Given the description of an element on the screen output the (x, y) to click on. 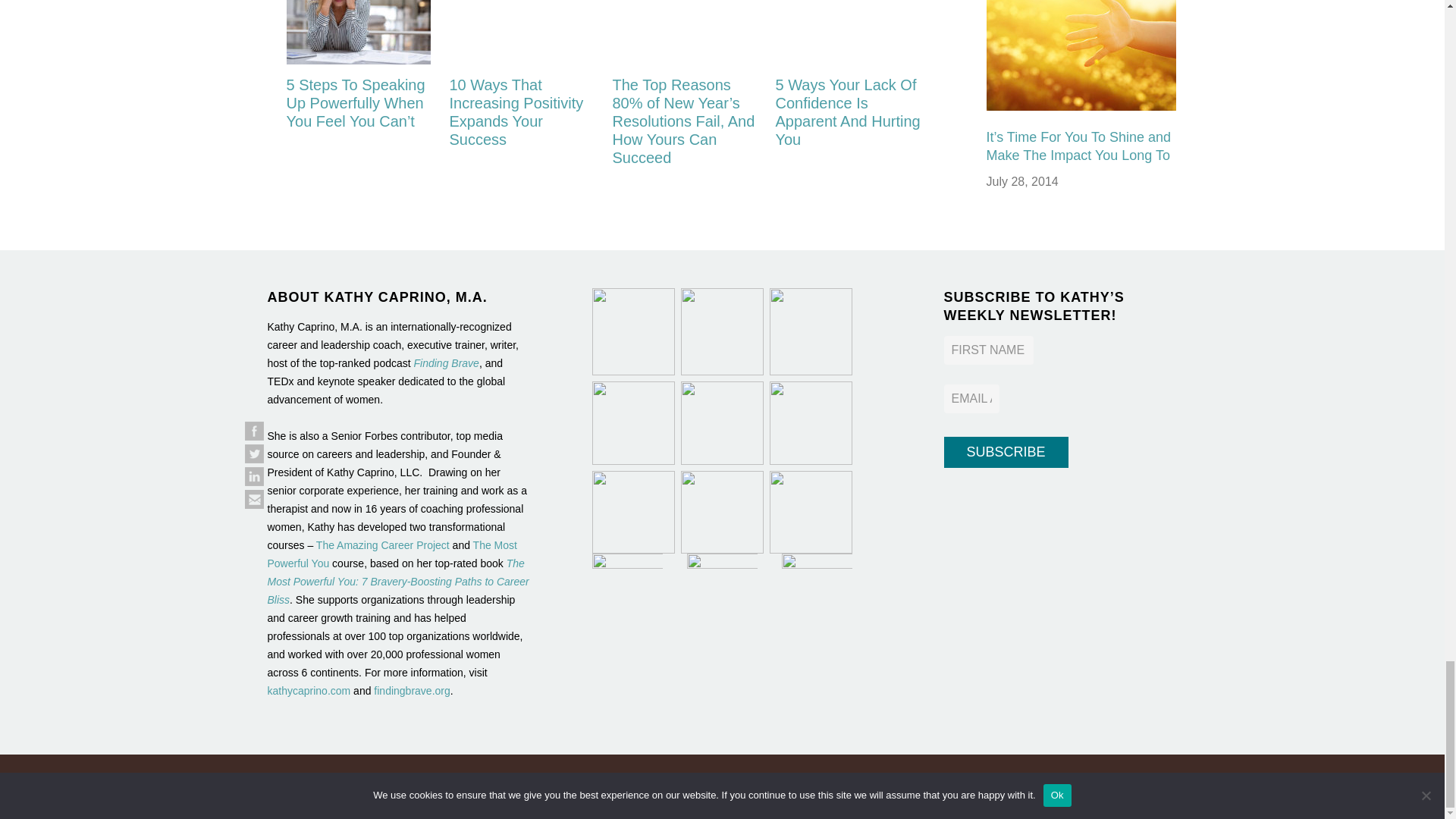
Subscribe (1005, 451)
